Given the description of an element on the screen output the (x, y) to click on. 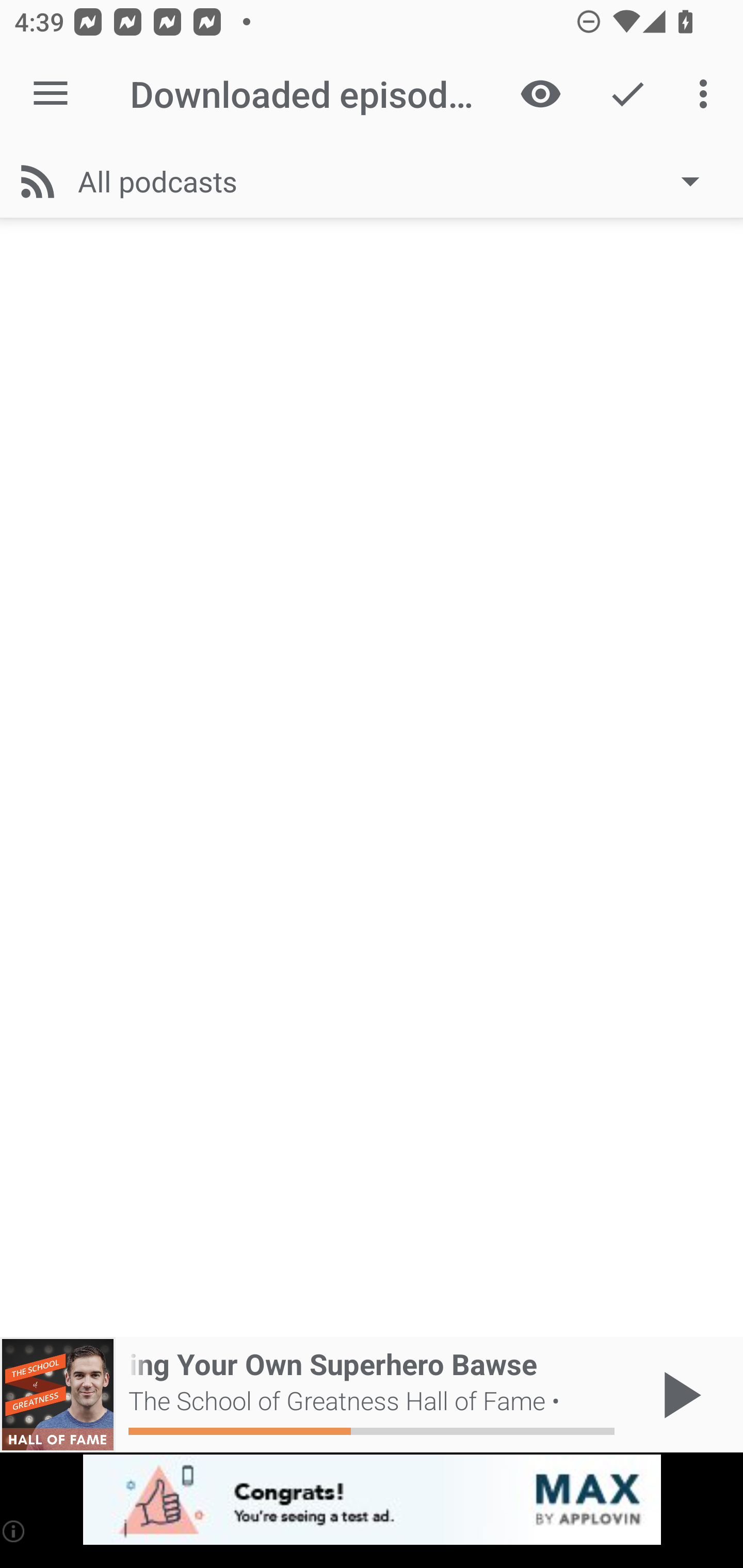
Open navigation sidebar (50, 93)
Show / Hide played content (540, 93)
Action Mode (626, 93)
More options (706, 93)
All podcasts (398, 180)
Play / Pause (677, 1394)
app-monetization (371, 1500)
(i) (14, 1531)
